Given the description of an element on the screen output the (x, y) to click on. 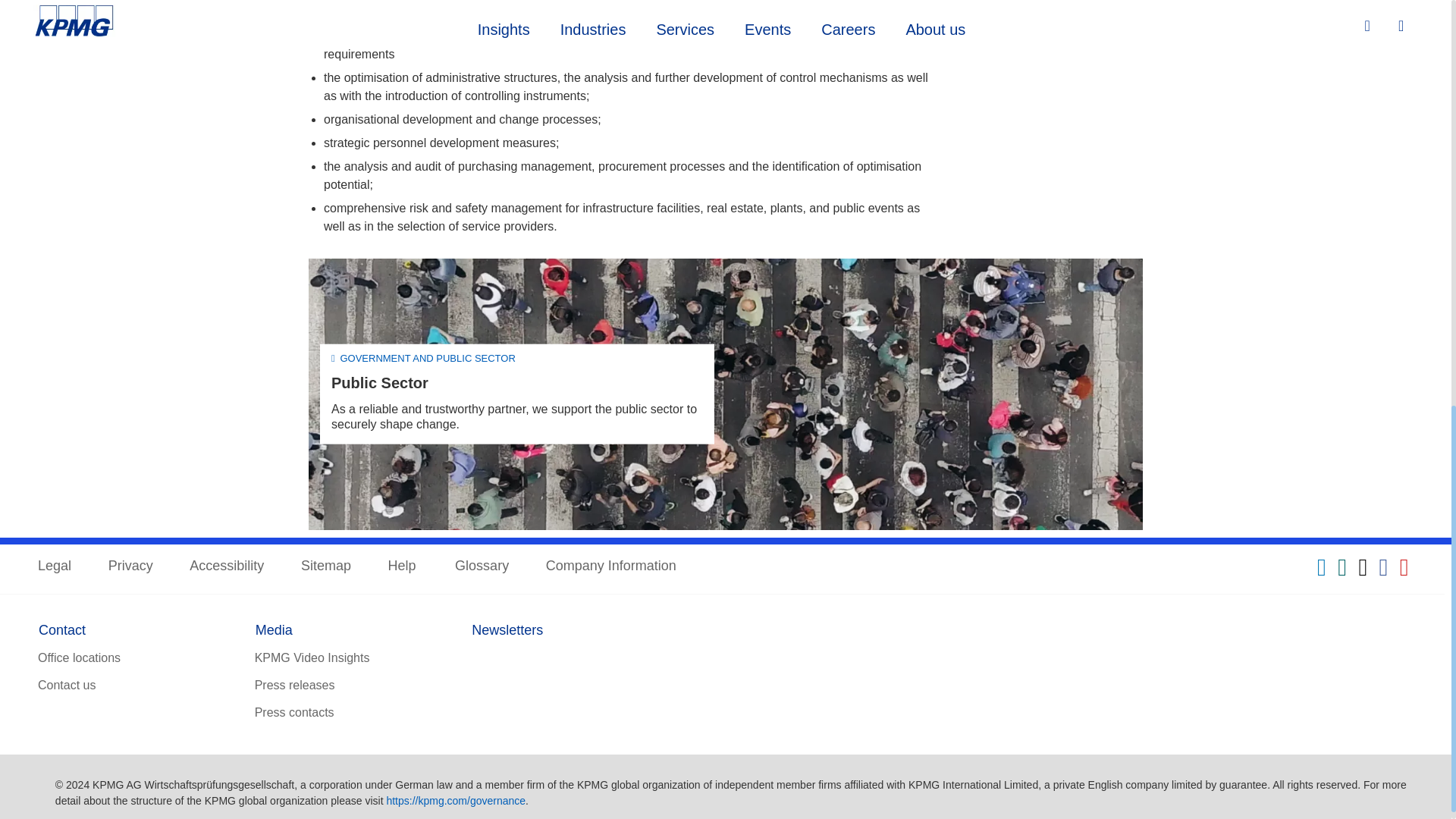
Sitemap (325, 566)
Glossary (481, 566)
Company Information (611, 566)
Legal (54, 566)
Help (403, 566)
Privacy (129, 566)
Accessibility (226, 566)
